Given the description of an element on the screen output the (x, y) to click on. 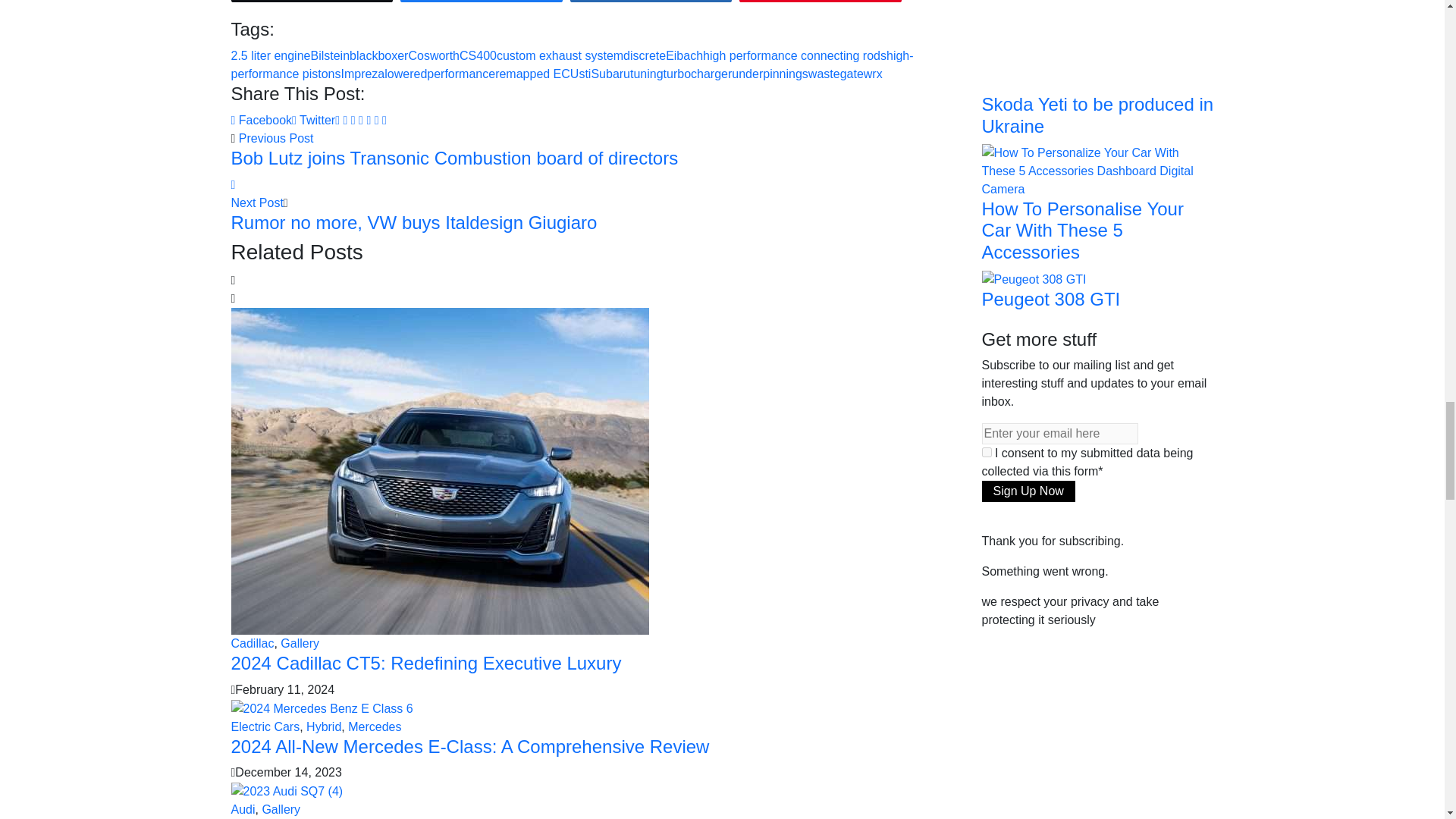
on (986, 452)
Sign Up Now (1027, 491)
Skoda Yeti to be produced in Ukraine (1056, 16)
How To Personalise Your Car With These 5 Accessories (1096, 169)
